Given the description of an element on the screen output the (x, y) to click on. 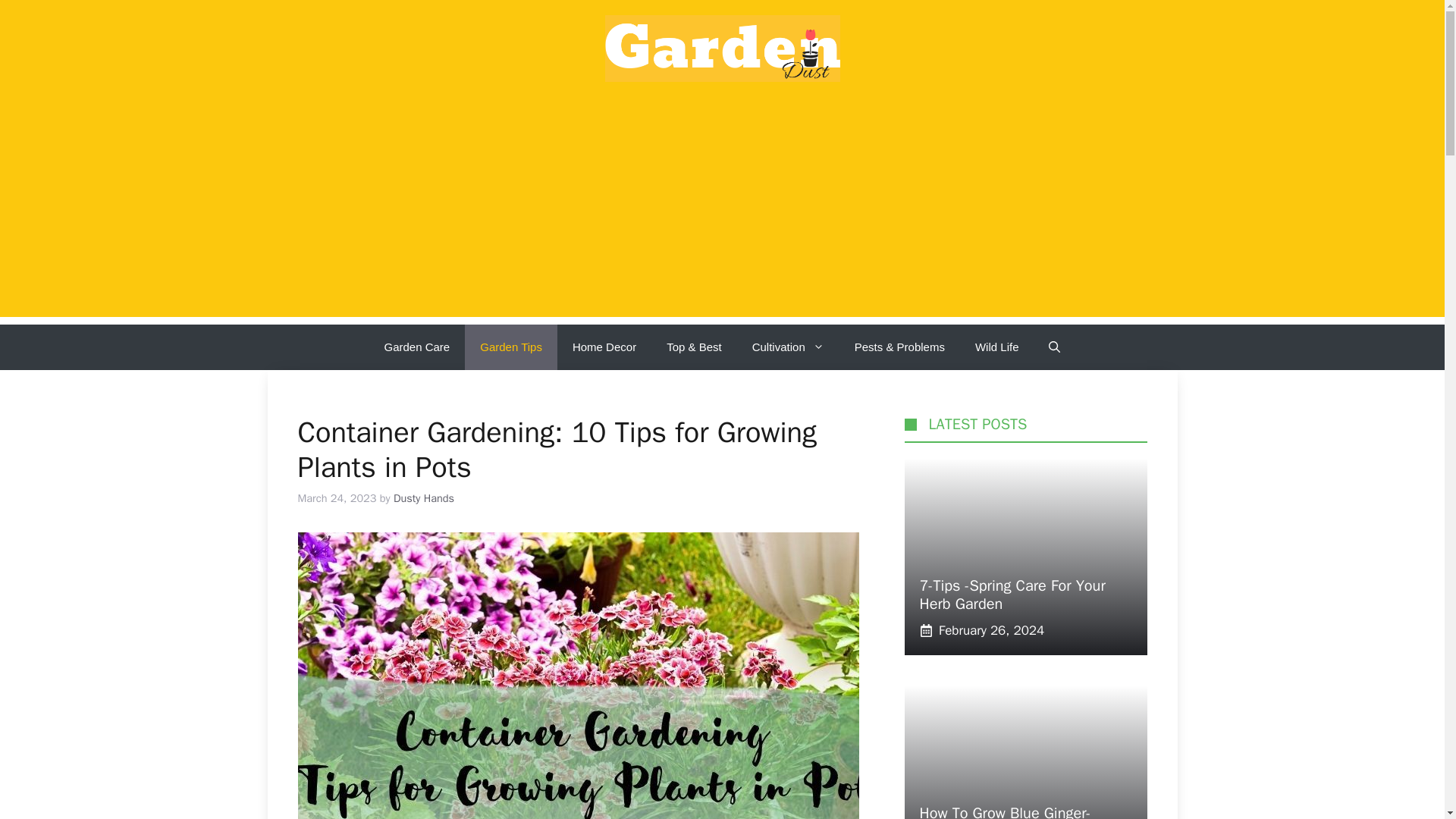
View all posts by Dusty Hands (423, 498)
Dusty Hands (423, 498)
Home Decor (1025, 556)
Cultivation (603, 347)
How To Grow Blue Ginger-Dichorisandra Thyrsiflora (788, 347)
Garden Tips (1004, 811)
Garden Care (510, 347)
7-Tips -Spring Care For Your Herb Garden (416, 347)
Wild Life (1011, 594)
